Given the description of an element on the screen output the (x, y) to click on. 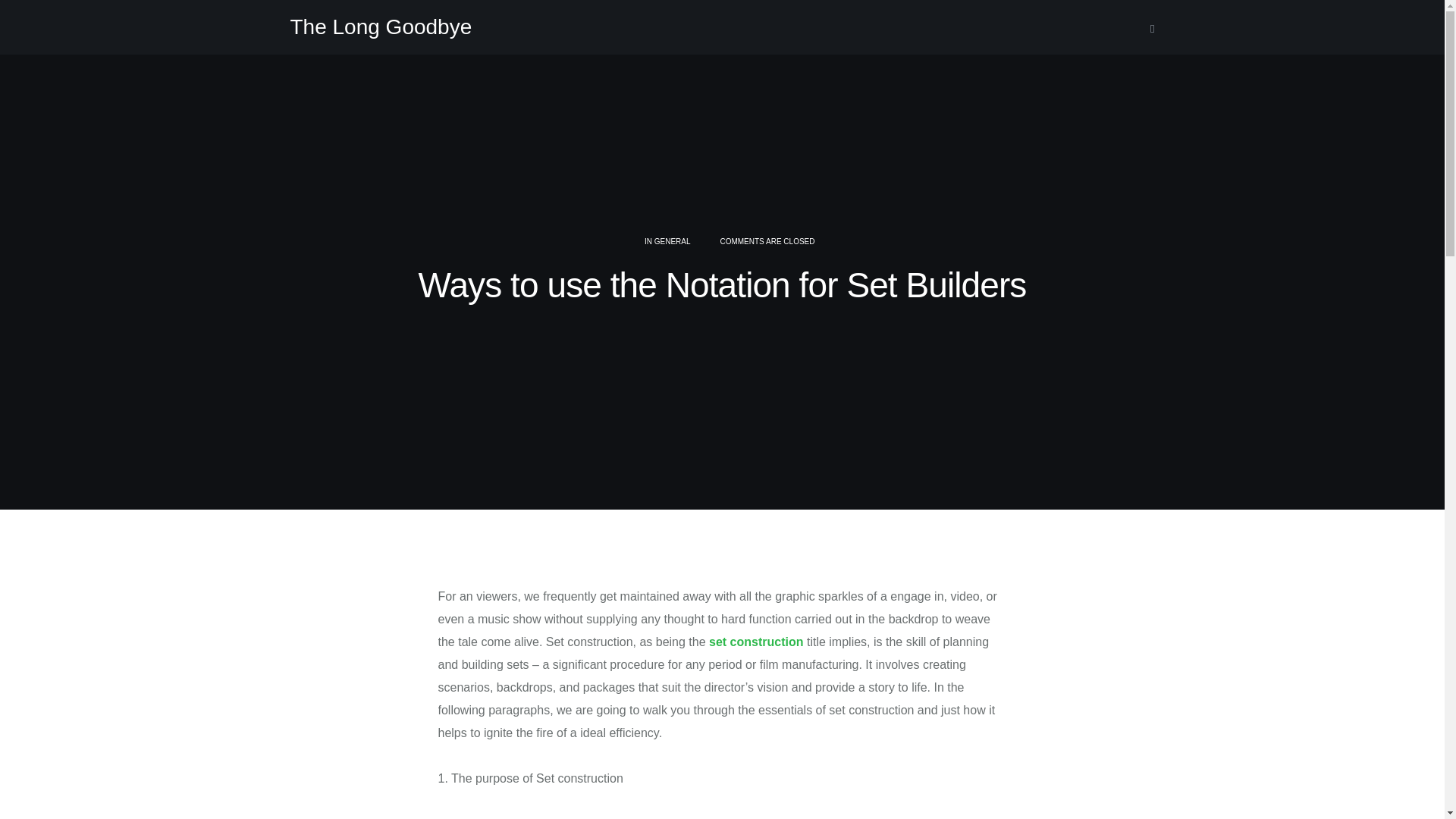
The Long Goodbye (380, 27)
GENERAL (671, 241)
set construction (756, 641)
